Given the description of an element on the screen output the (x, y) to click on. 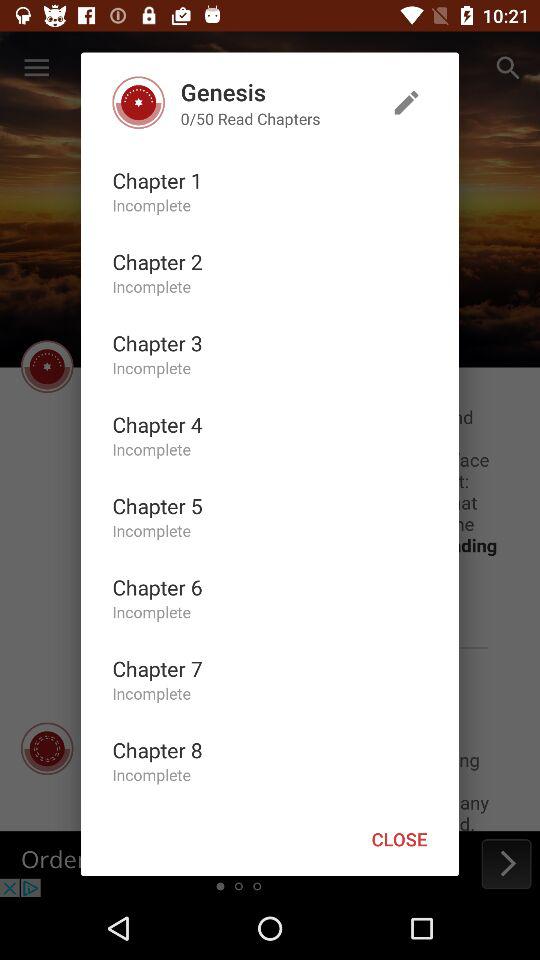
flip to the close icon (399, 838)
